Given the description of an element on the screen output the (x, y) to click on. 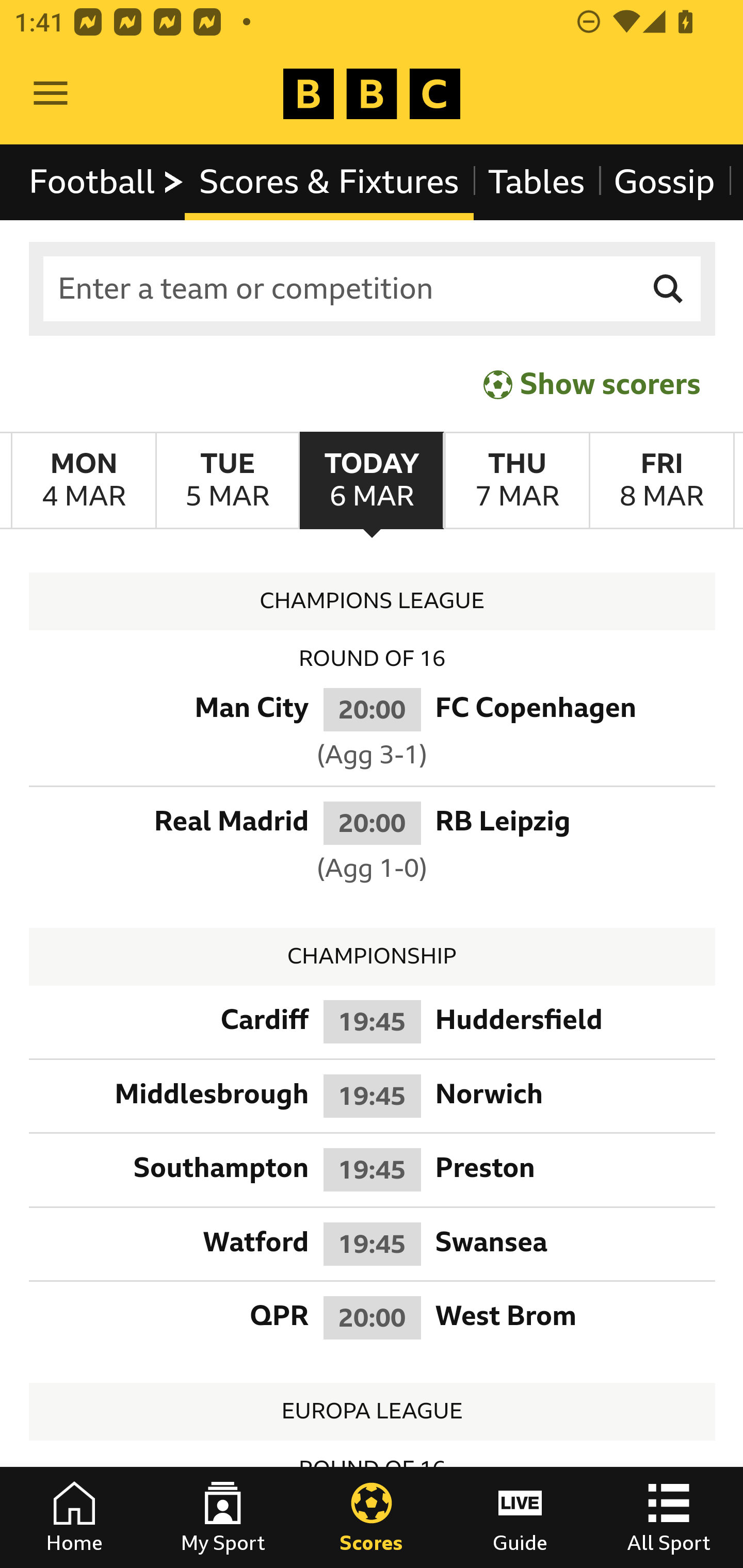
Open Menu (50, 93)
Football  (106, 181)
Scores & Fixtures (329, 181)
Tables (536, 181)
Gossip (664, 181)
Search (669, 289)
Show scorers (591, 383)
MondayMarch 4th Monday March 4th (83, 480)
TuesdayMarch 5th Tuesday March 5th (227, 480)
ThursdayMarch 7th Thursday March 7th (516, 480)
FridayMarch 8th Friday March 8th (661, 480)
Home (74, 1517)
My Sport (222, 1517)
Guide (519, 1517)
All Sport (668, 1517)
